Given the description of an element on the screen output the (x, y) to click on. 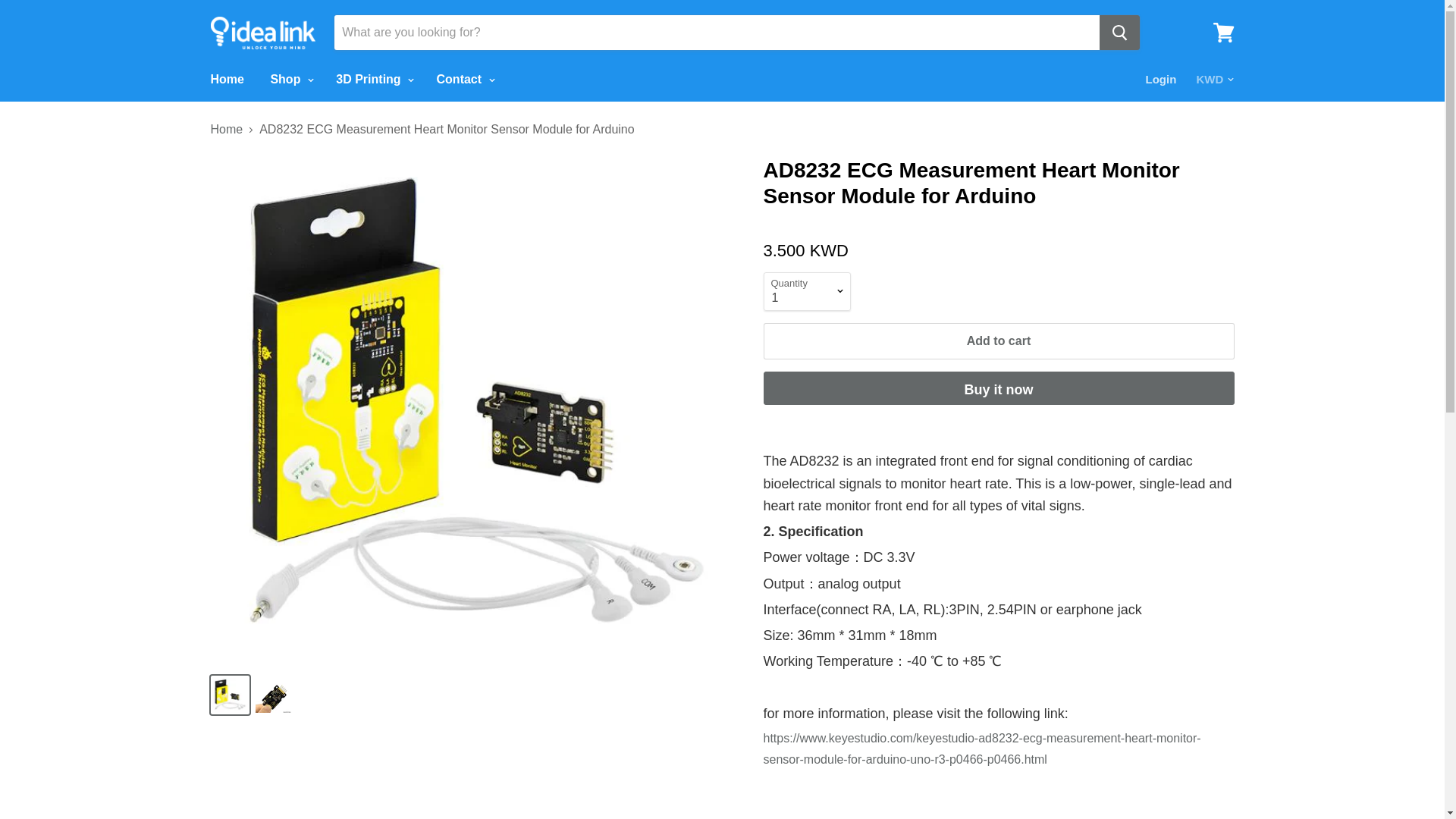
Home (226, 79)
View cart (1223, 32)
Shop (289, 79)
